Given the description of an element on the screen output the (x, y) to click on. 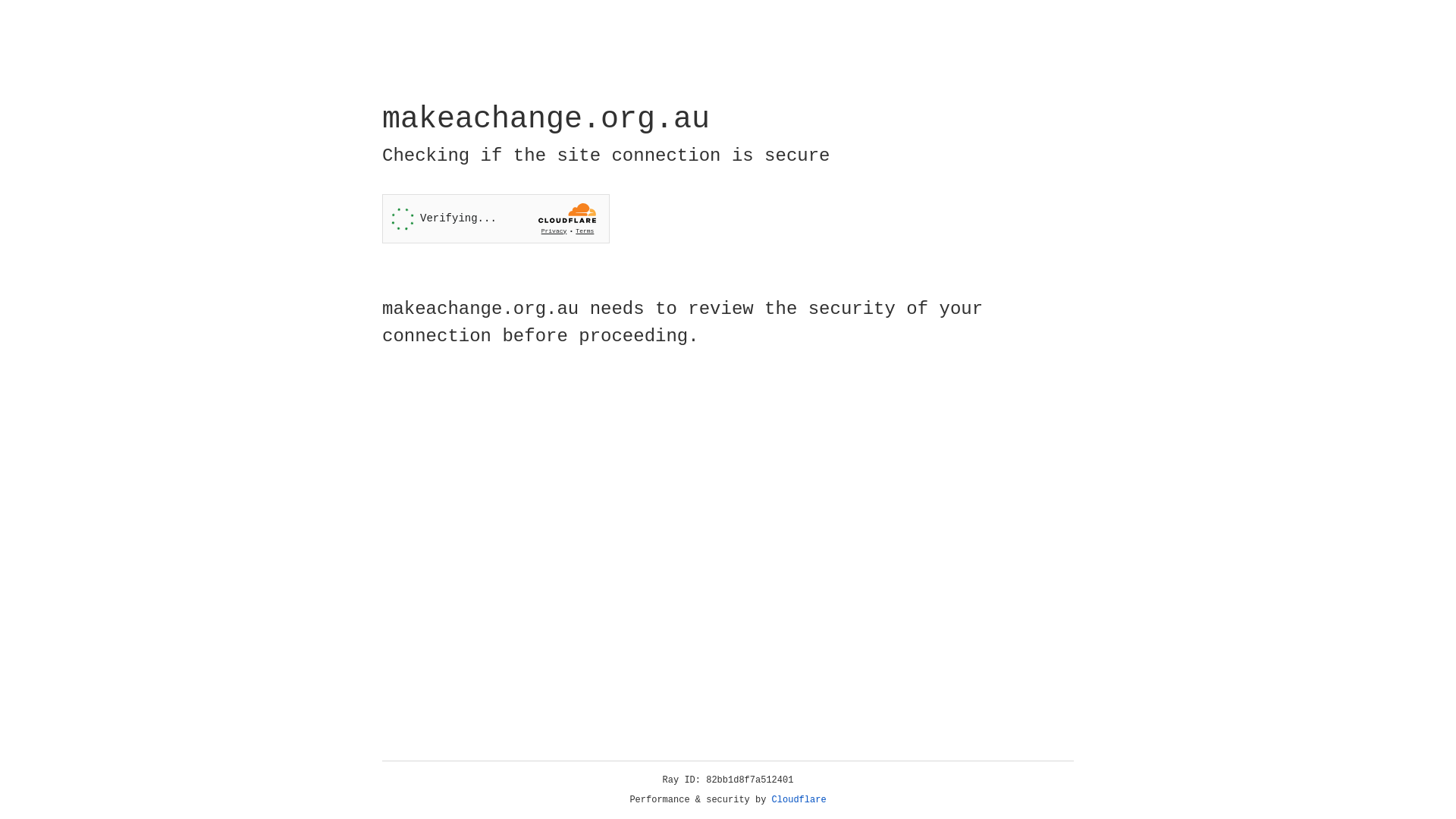
Widget containing a Cloudflare security challenge Element type: hover (495, 218)
Cloudflare Element type: text (798, 799)
